Given the description of an element on the screen output the (x, y) to click on. 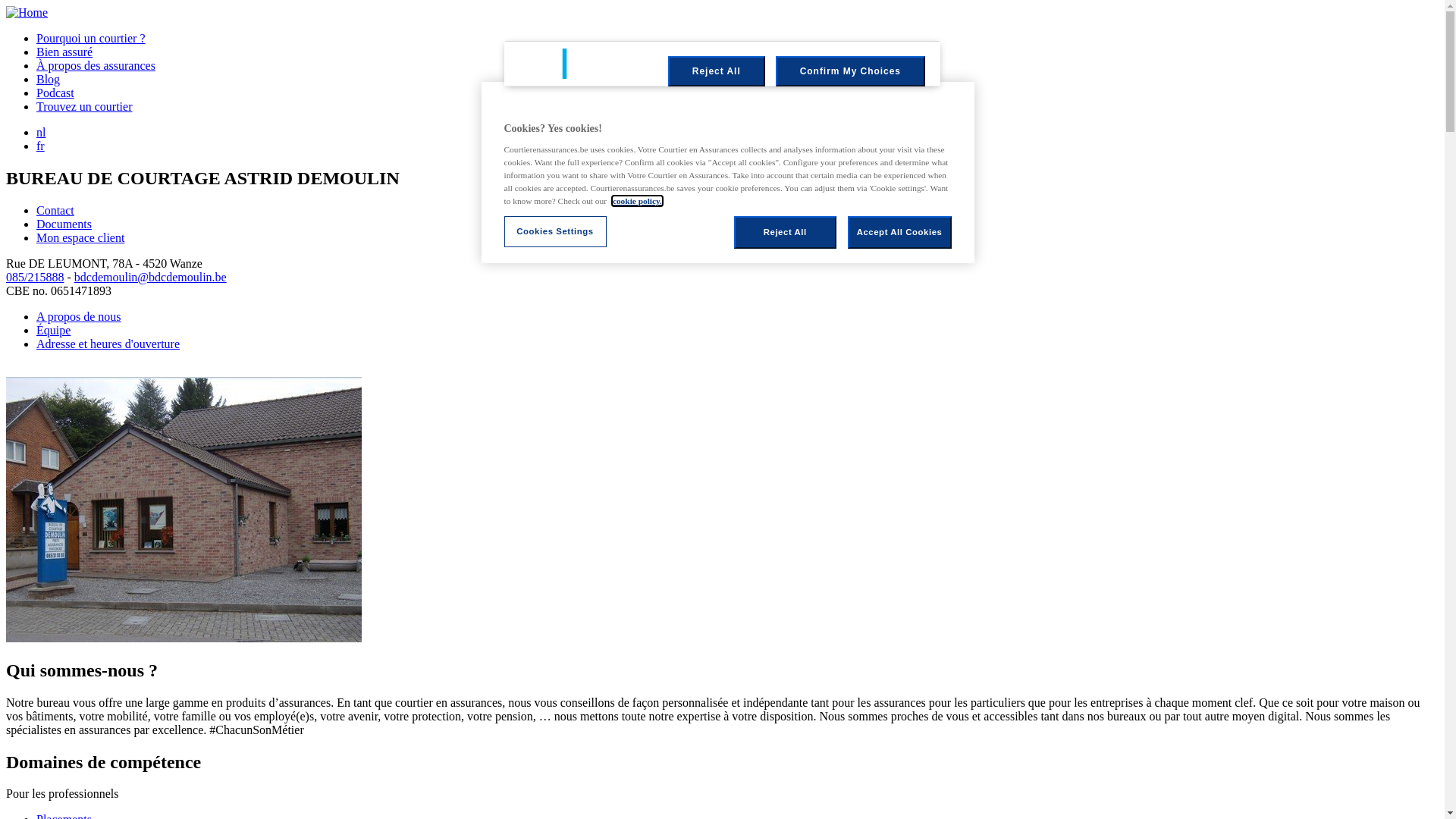
Adresse et heures d'ouverture Element type: text (107, 343)
A propos de nous Element type: text (78, 316)
cookie policy. Element type: text (637, 200)
bdcdemoulin@bdcdemoulin.be Element type: text (150, 276)
Blog Element type: text (47, 78)
fr Element type: text (40, 145)
Reject All Element type: text (785, 232)
Documents Element type: text (63, 223)
Pourquoi un courtier ? Element type: text (90, 37)
Mon espace client Element type: text (737, 237)
Reject All Element type: text (716, 71)
Contact Element type: text (55, 209)
nl Element type: text (40, 131)
Podcast Element type: text (55, 92)
Cookies Settings Element type: text (554, 231)
Trouvez un courtier Element type: text (84, 106)
Confirm My Choices Element type: text (850, 71)
Accept All Cookies Element type: text (899, 232)
085/215888 Element type: text (34, 276)
Aller au contenu principal Element type: text (6, 6)
